Given the description of an element on the screen output the (x, y) to click on. 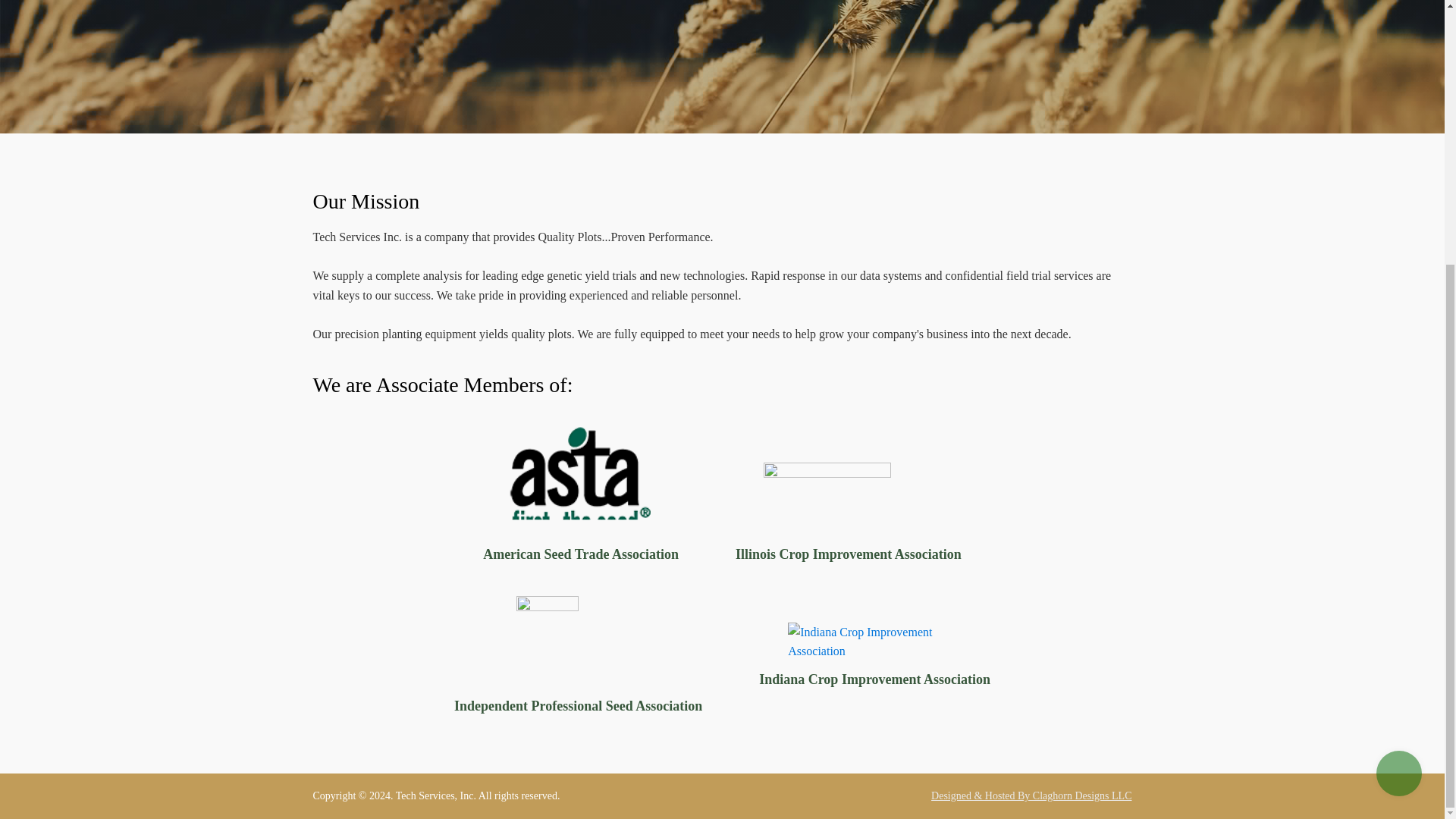
Independent Professional Seed Association (577, 656)
American Seed Trade Association (580, 495)
Illinois Crop Improvement Association (847, 513)
Indiana Crop Improvement Association (874, 656)
Top (1398, 391)
